Given the description of an element on the screen output the (x, y) to click on. 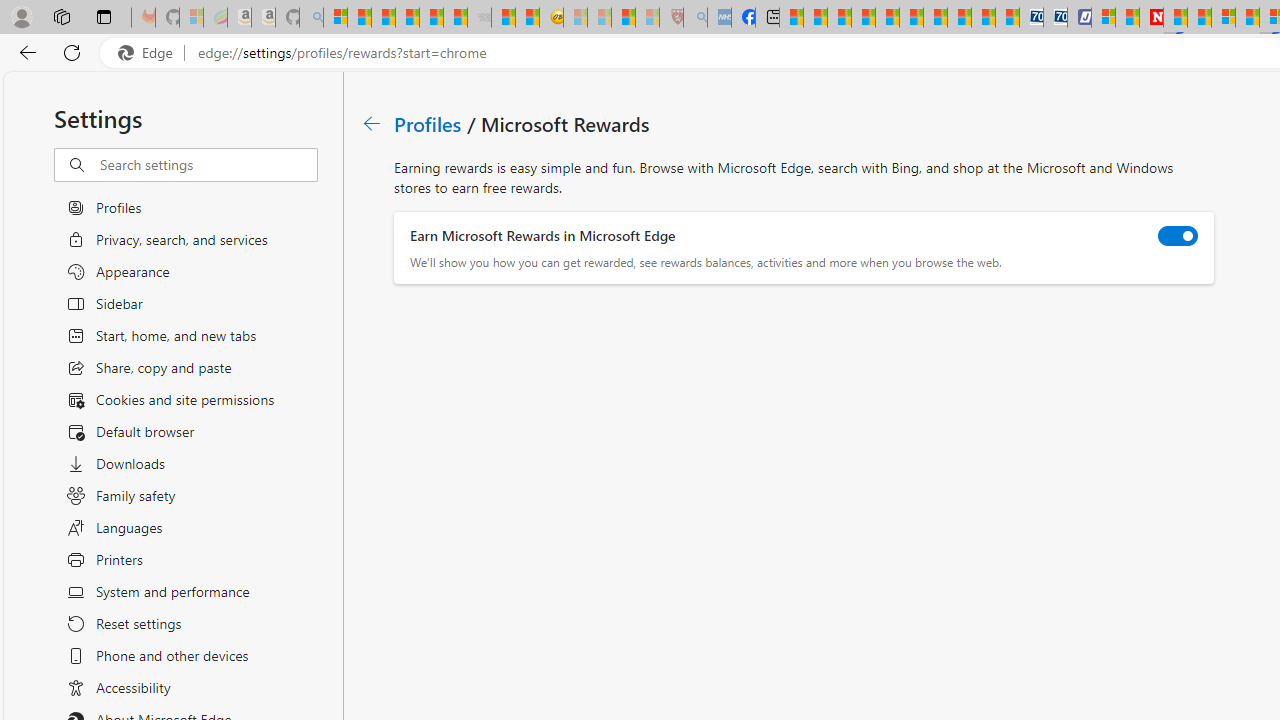
Profiles (429, 123)
Go back to Profiles page. (372, 123)
